Given the description of an element on the screen output the (x, y) to click on. 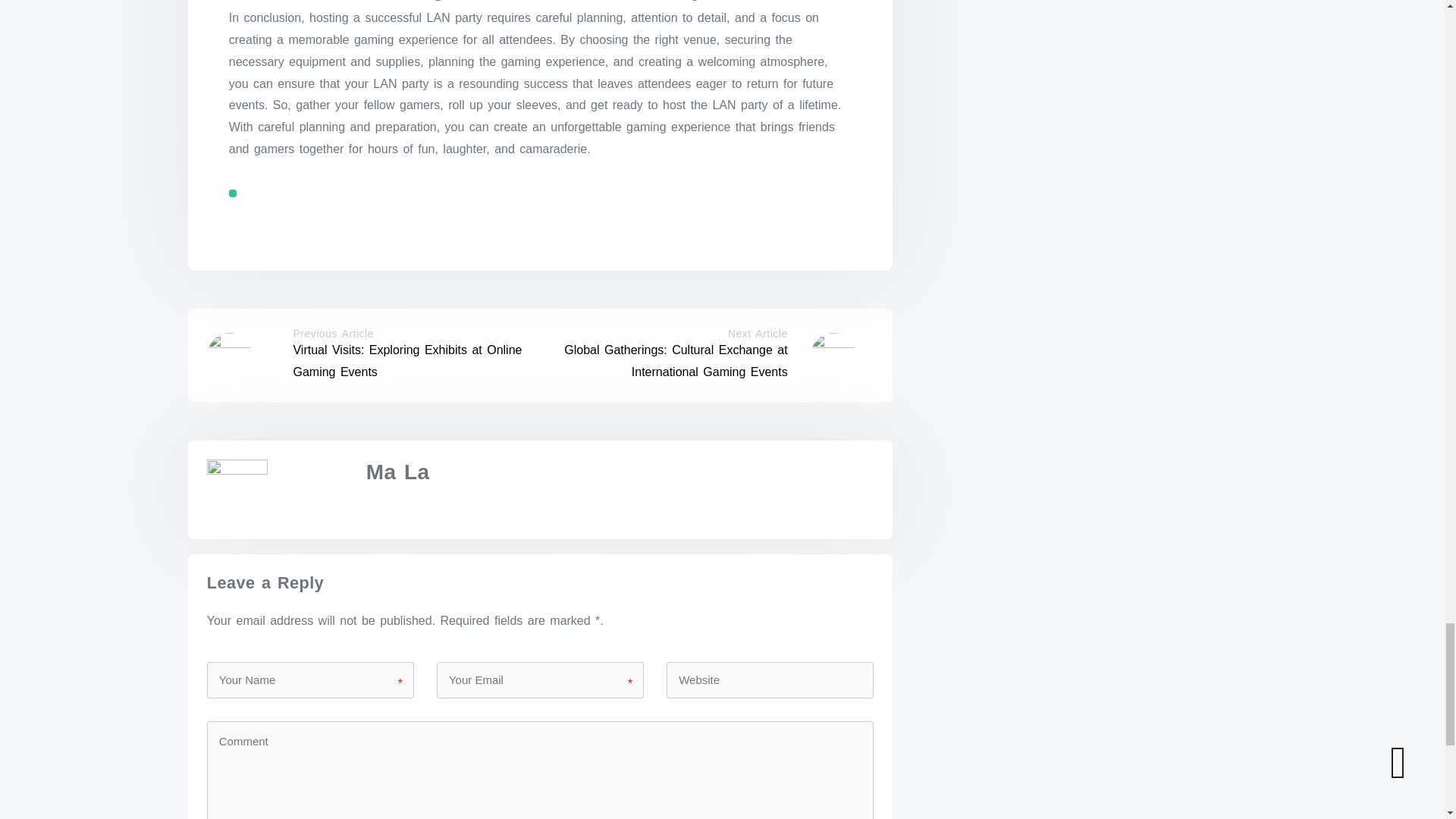
Virtual Visits: Exploring Exhibits at Online Gaming Events (406, 360)
